Given the description of an element on the screen output the (x, y) to click on. 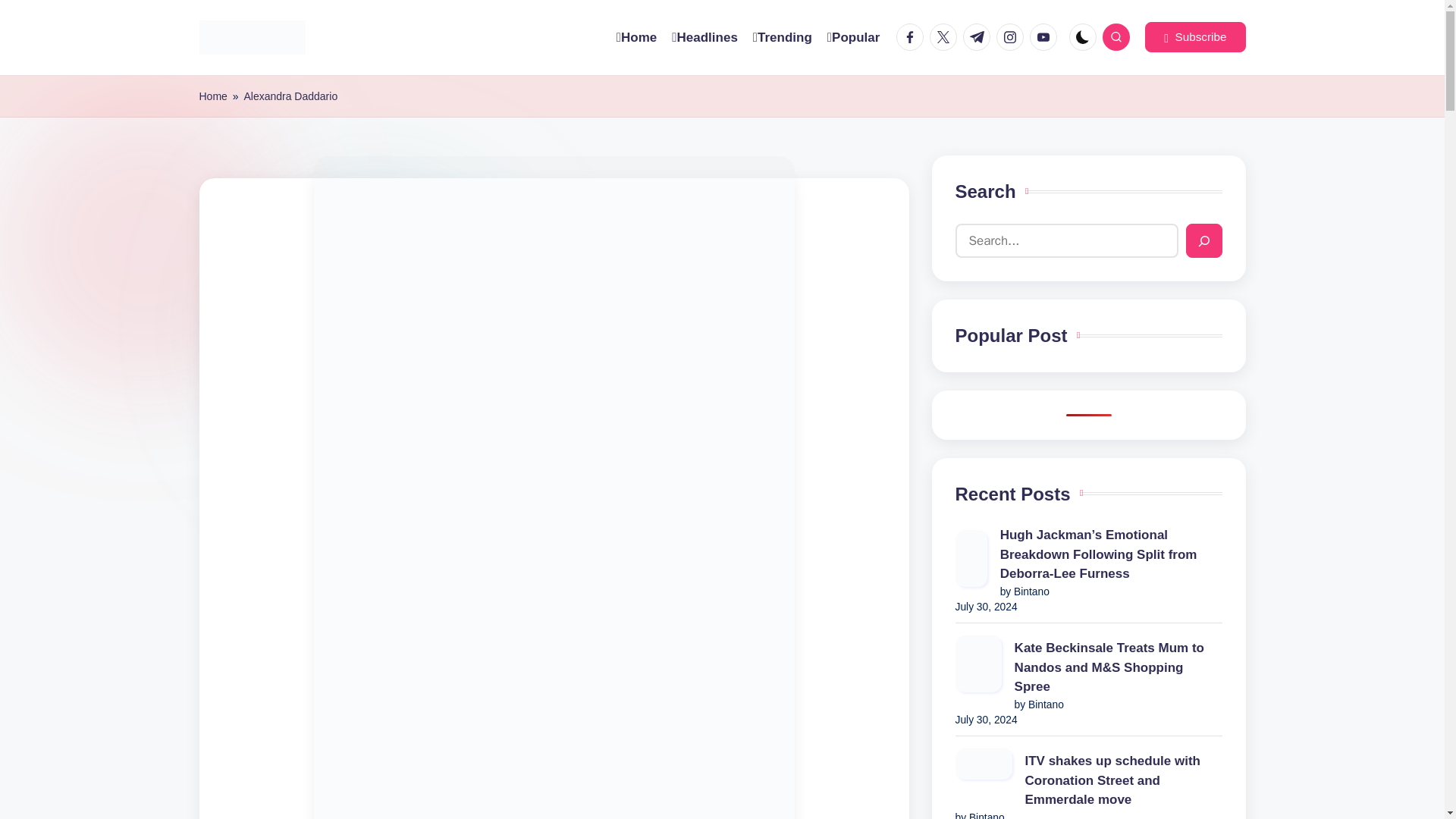
youtube.com (1045, 36)
Alexandra Daddario (290, 96)
facebook.com (913, 36)
t.me (978, 36)
Subscribe (1194, 37)
instagram.com (1012, 36)
Home (212, 96)
twitter.com (946, 36)
